Given the description of an element on the screen output the (x, y) to click on. 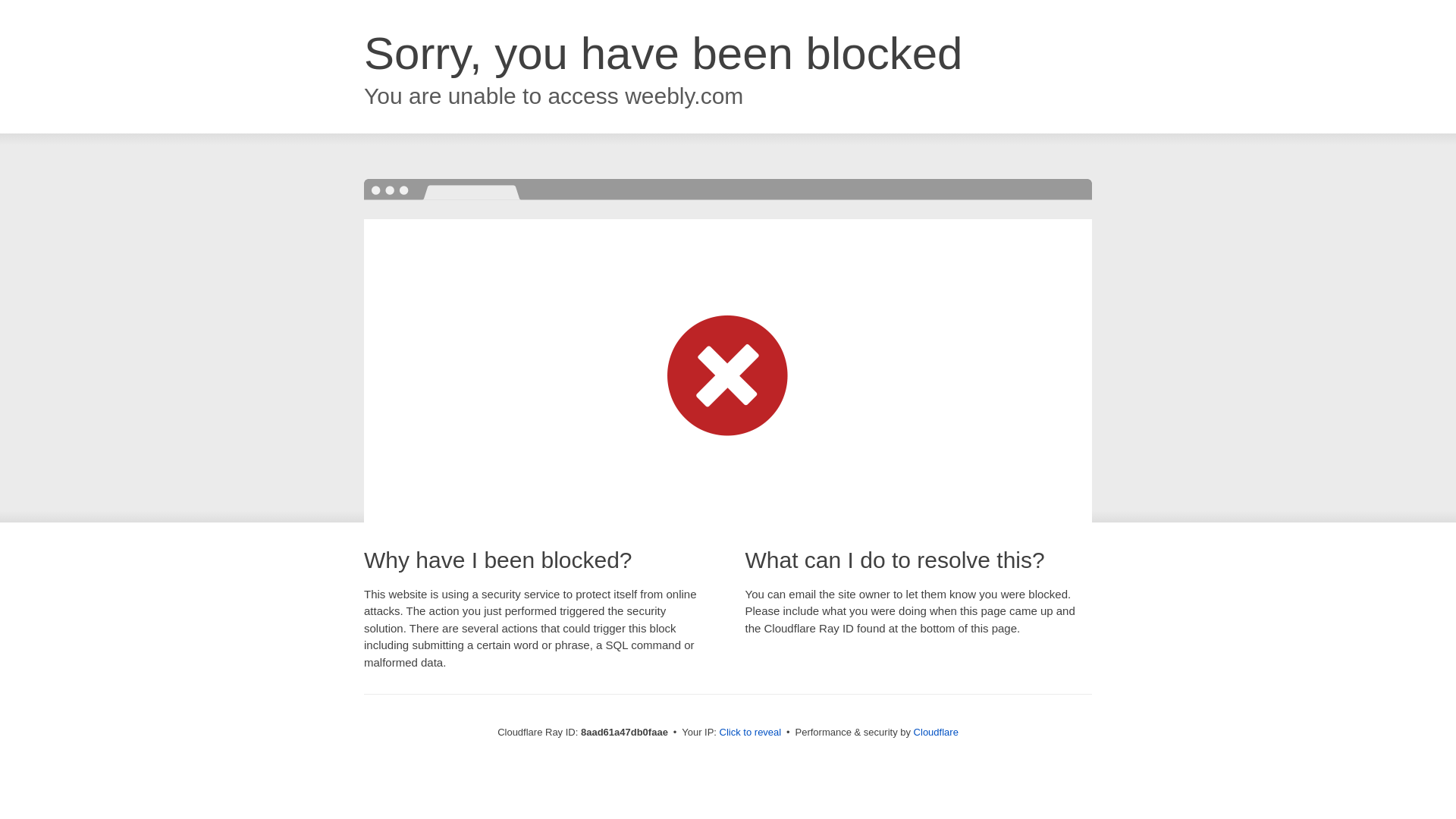
Click to reveal (750, 732)
Cloudflare (936, 731)
